Given the description of an element on the screen output the (x, y) to click on. 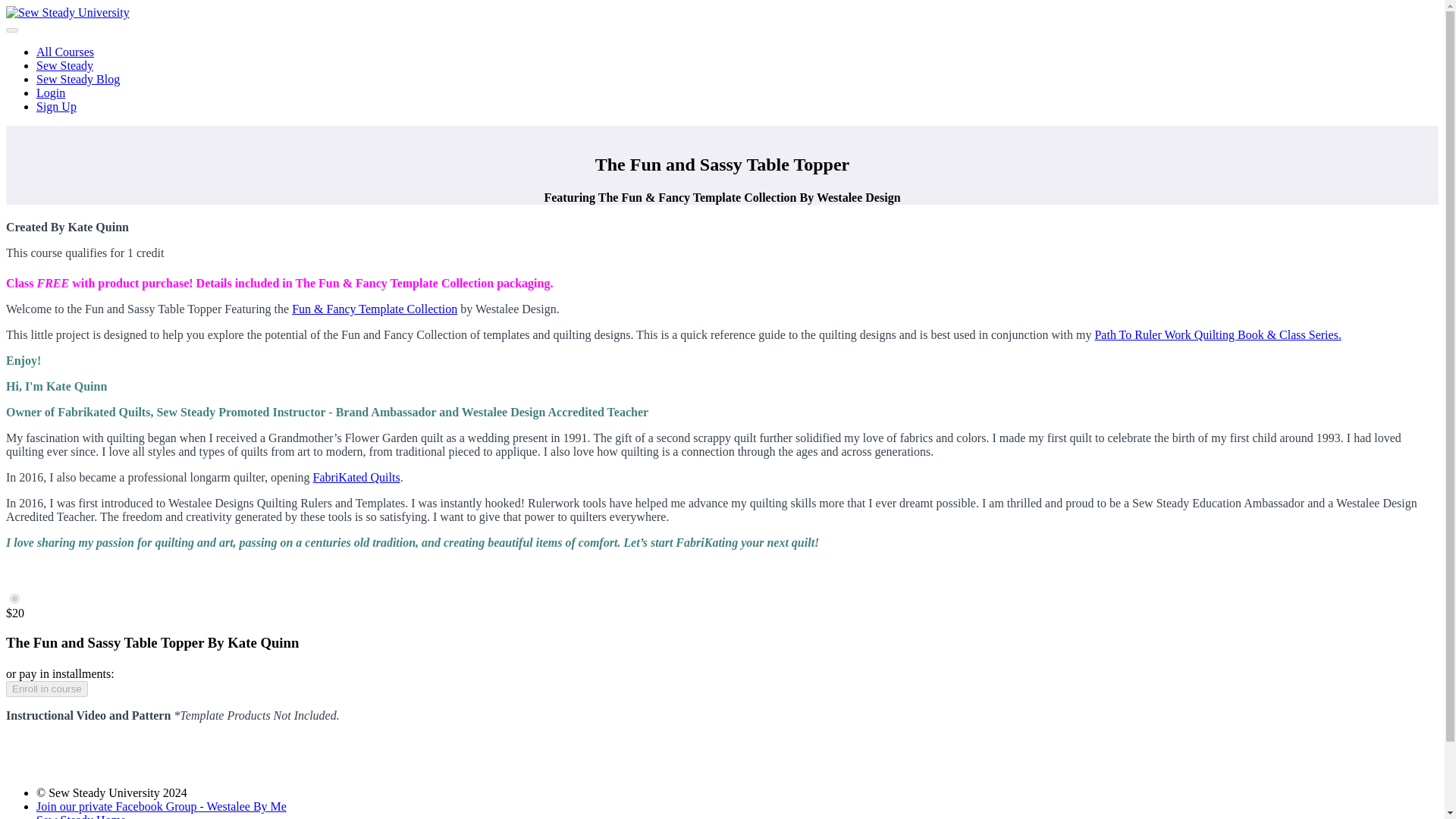
Sign Up (56, 106)
Join our private Facebook Group - Westalee By Me (161, 806)
Sew Steady Home (80, 816)
All Courses (65, 51)
Sew Steady Blog (77, 78)
Enroll in course (46, 688)
Sew Steady (64, 65)
FabriKated Quilts (356, 477)
Login (50, 92)
1948613 (15, 598)
